Given the description of an element on the screen output the (x, y) to click on. 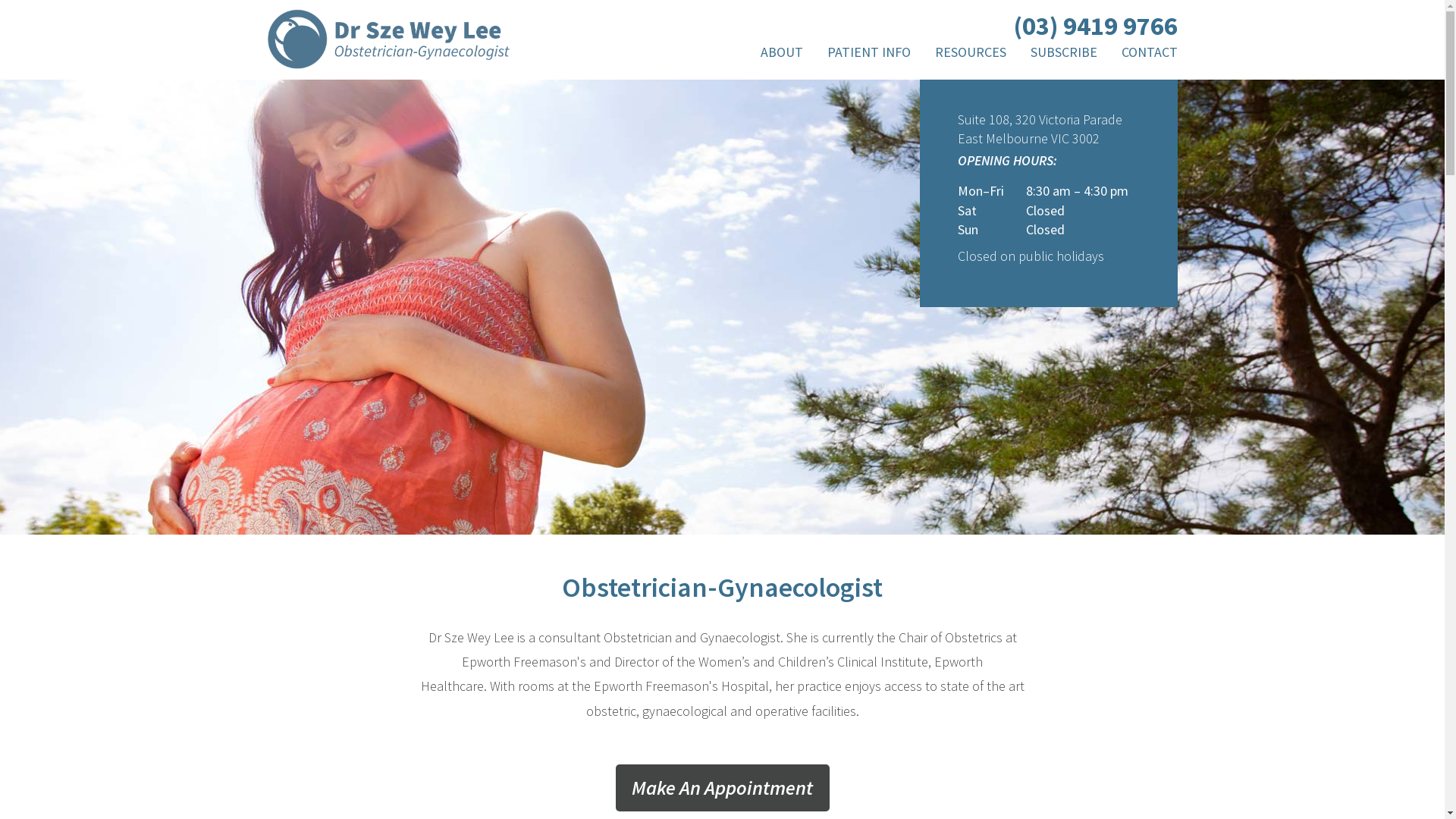
ABOUT Element type: text (784, 55)
CONTACT Element type: text (1144, 55)
PATIENT INFO Element type: text (868, 55)
RESOURCES Element type: text (969, 55)
Make An Appointment Element type: text (722, 787)
(03) 9419 9766 Element type: text (1094, 25)
SUBSCRIBE Element type: text (1063, 55)
